Given the description of an element on the screen output the (x, y) to click on. 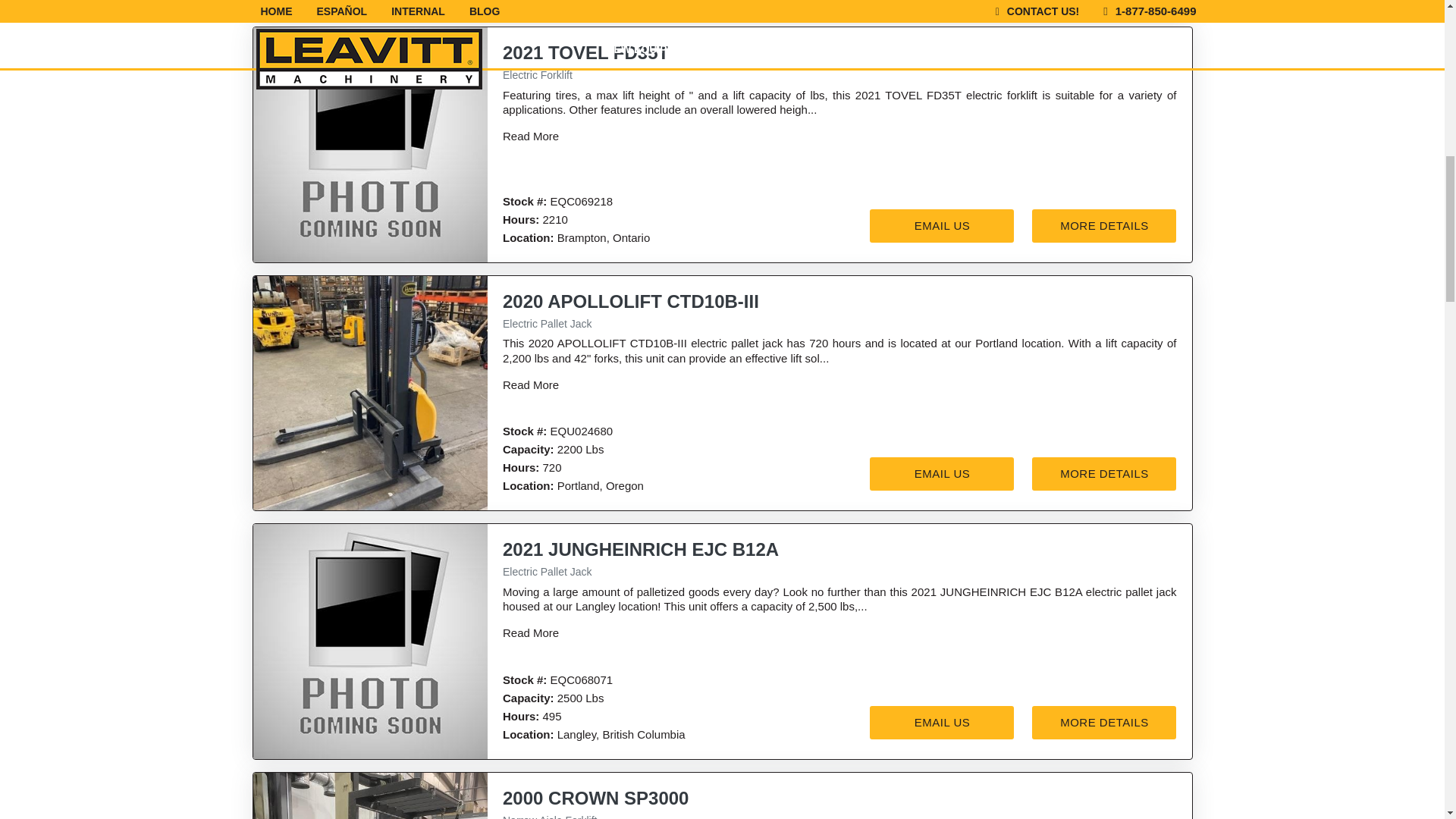
Used 2021 TOVEL FD35T Electric Forklift in Brampton Ontario (370, 7)
Used 2021 TOVEL FD35T Electric Forklift in Brampton Ontario (370, 144)
